Given the description of an element on the screen output the (x, y) to click on. 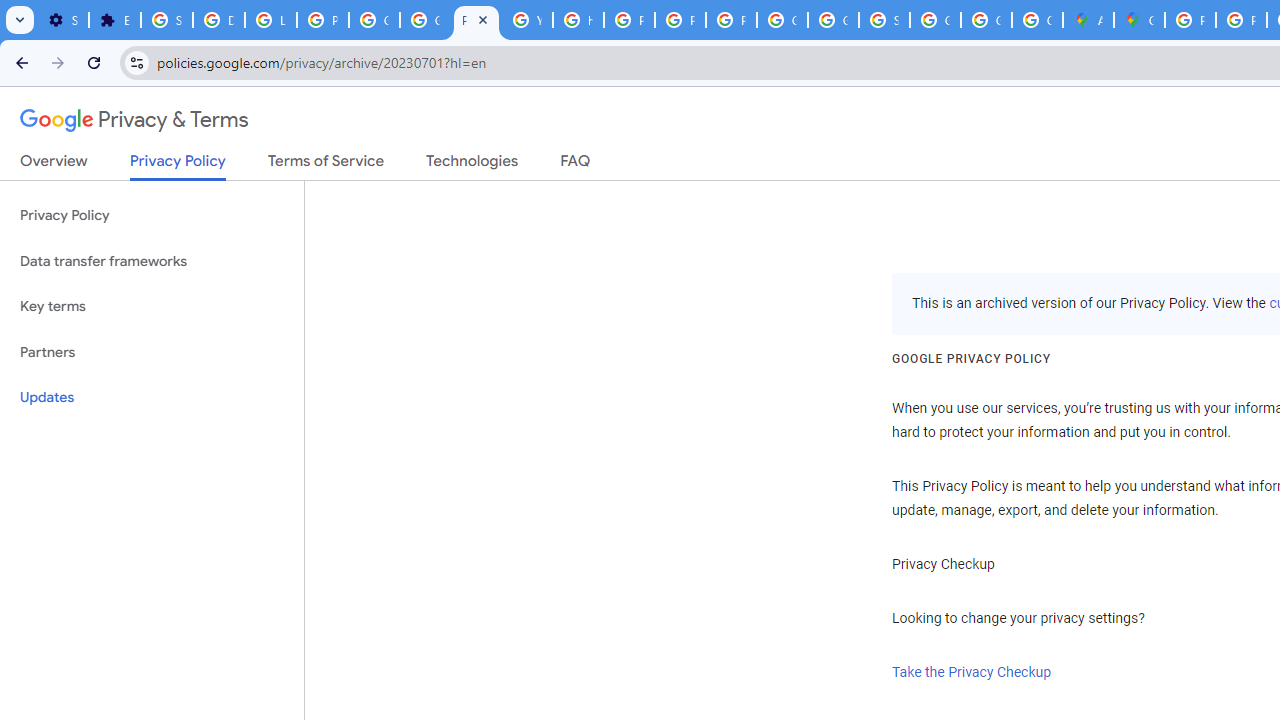
Sign in - Google Accounts (166, 20)
Privacy Help Center - Policies Help (1241, 20)
Data transfer frameworks (152, 261)
Key terms (152, 306)
Settings - On startup (63, 20)
